Given the description of an element on the screen output the (x, y) to click on. 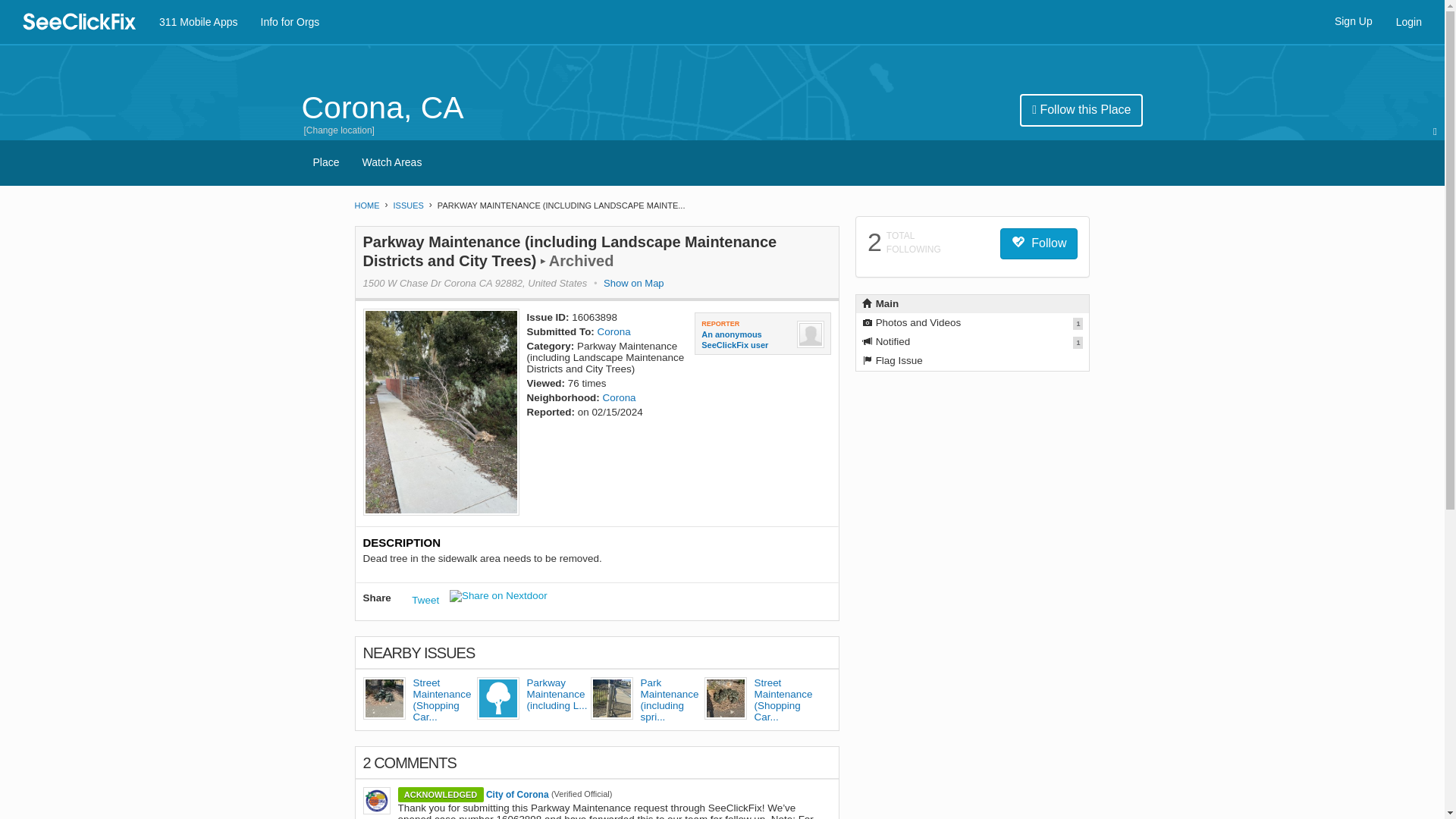
HOME (367, 204)
City of Corona (517, 794)
Place (325, 162)
An anonymous SeeClickFix user (746, 339)
Sign Up (1353, 21)
ISSUES (408, 204)
SeeClickFix (79, 18)
Login (1408, 22)
Info for Orgs (289, 22)
Watch Areas (391, 162)
